Given the description of an element on the screen output the (x, y) to click on. 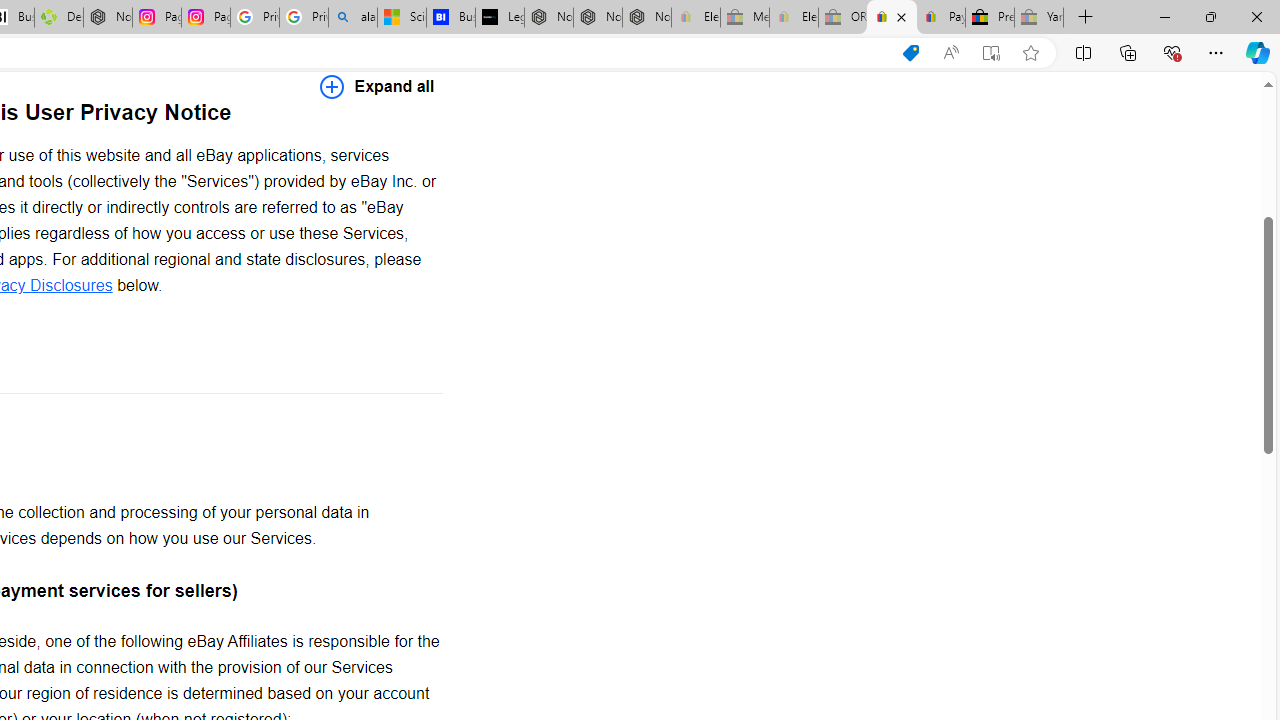
Descarga Driver Updater (58, 17)
alabama high school quarterback dies - Search (353, 17)
Payments Terms of Use | eBay.com (940, 17)
Yard, Garden & Outdoor Living - Sleeping (1039, 17)
Press Room - eBay Inc. (989, 17)
